Given the description of an element on the screen output the (x, y) to click on. 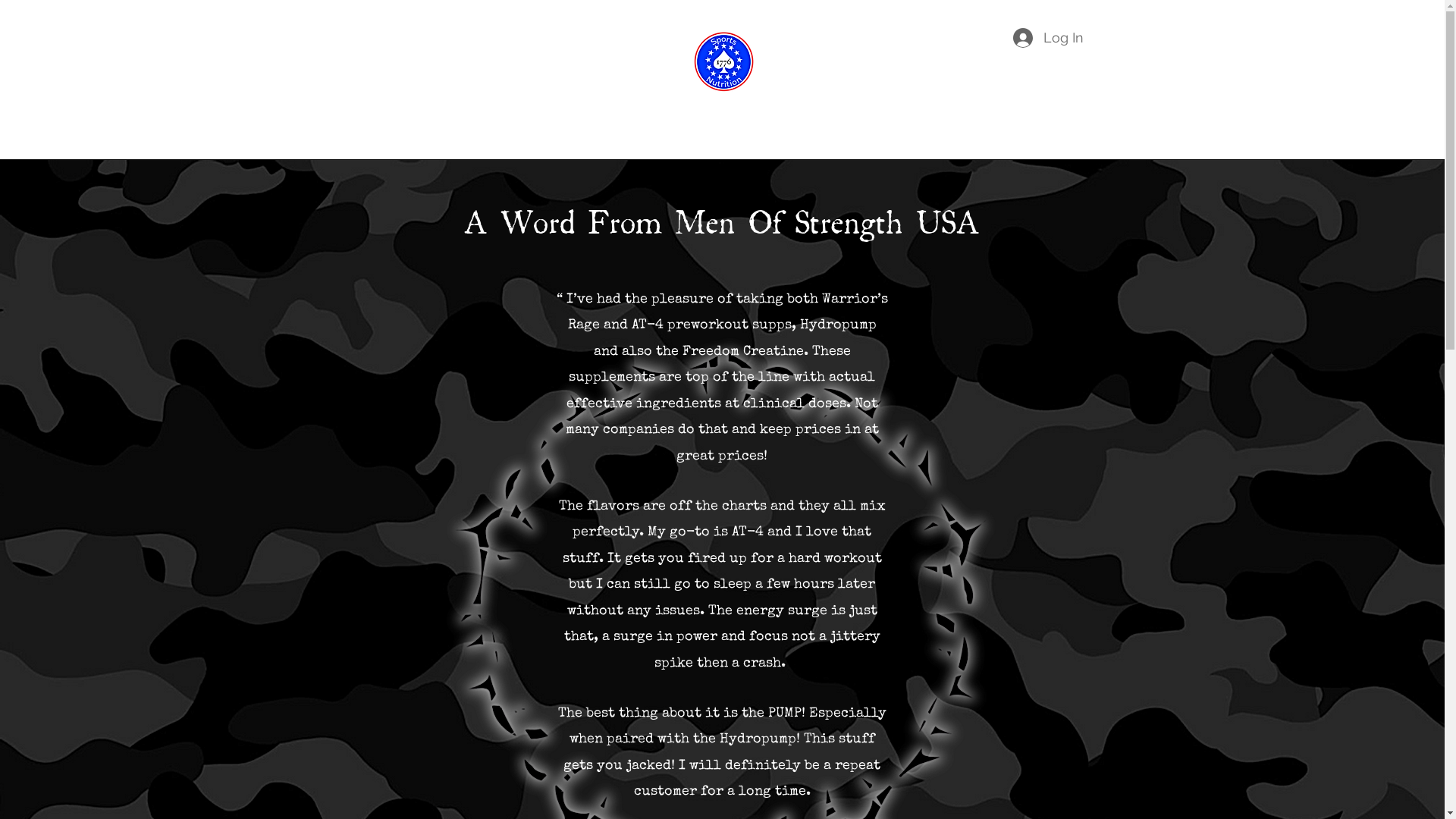
Log In Element type: text (1048, 37)
